Given the description of an element on the screen output the (x, y) to click on. 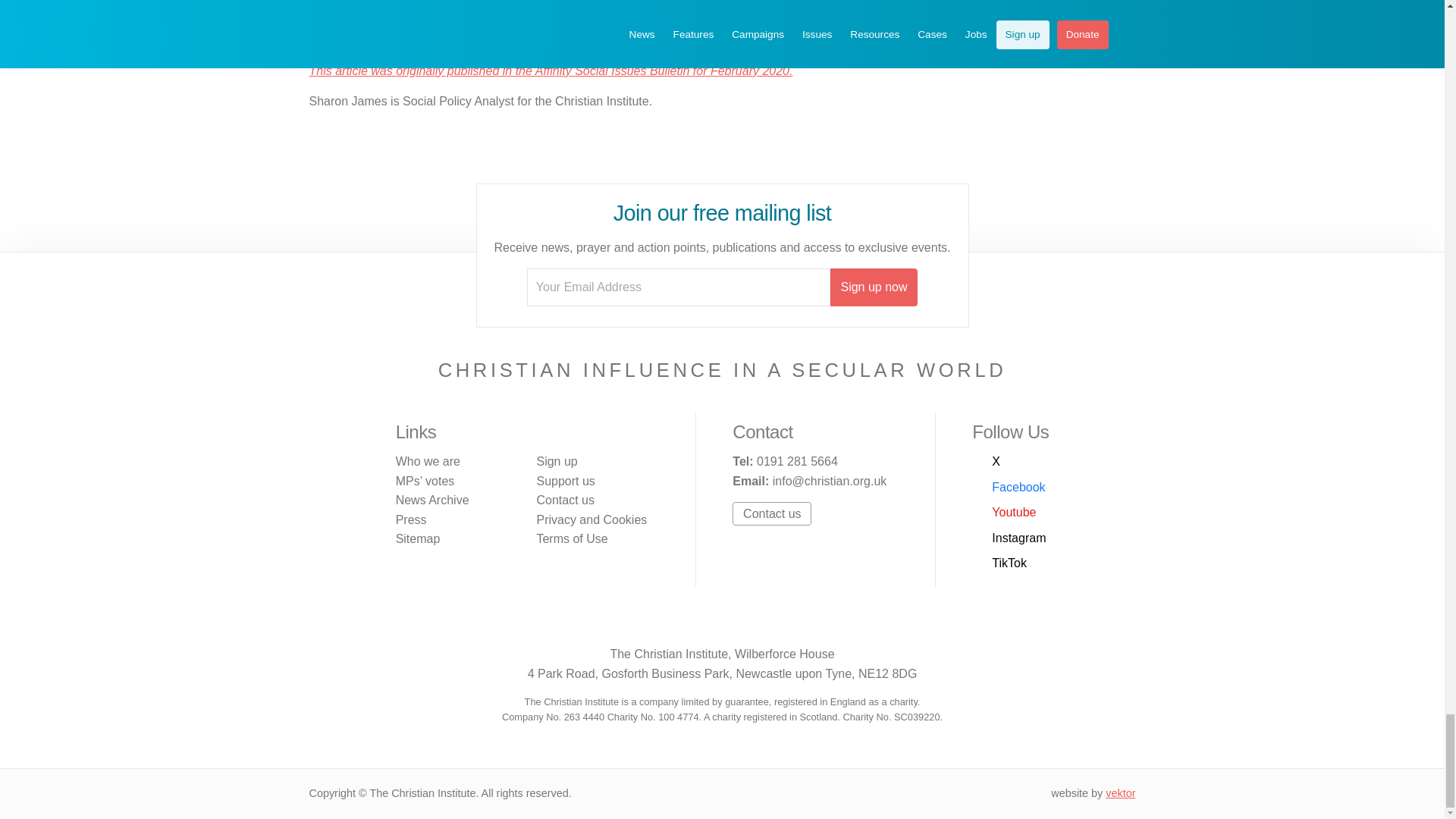
Visit our YouTube channel (1003, 512)
Visit our TikTok feed (769, 621)
Visit our Facebook page (673, 621)
Visit our Facebook page (1008, 487)
Visit our TikTok feed (999, 563)
Visit our Instagram page (1008, 537)
View our RSS News feeds (802, 621)
Visit our Twitter page (986, 461)
Visit our Instagram page (737, 621)
Visit our YouTube channel (705, 621)
